Given the description of an element on the screen output the (x, y) to click on. 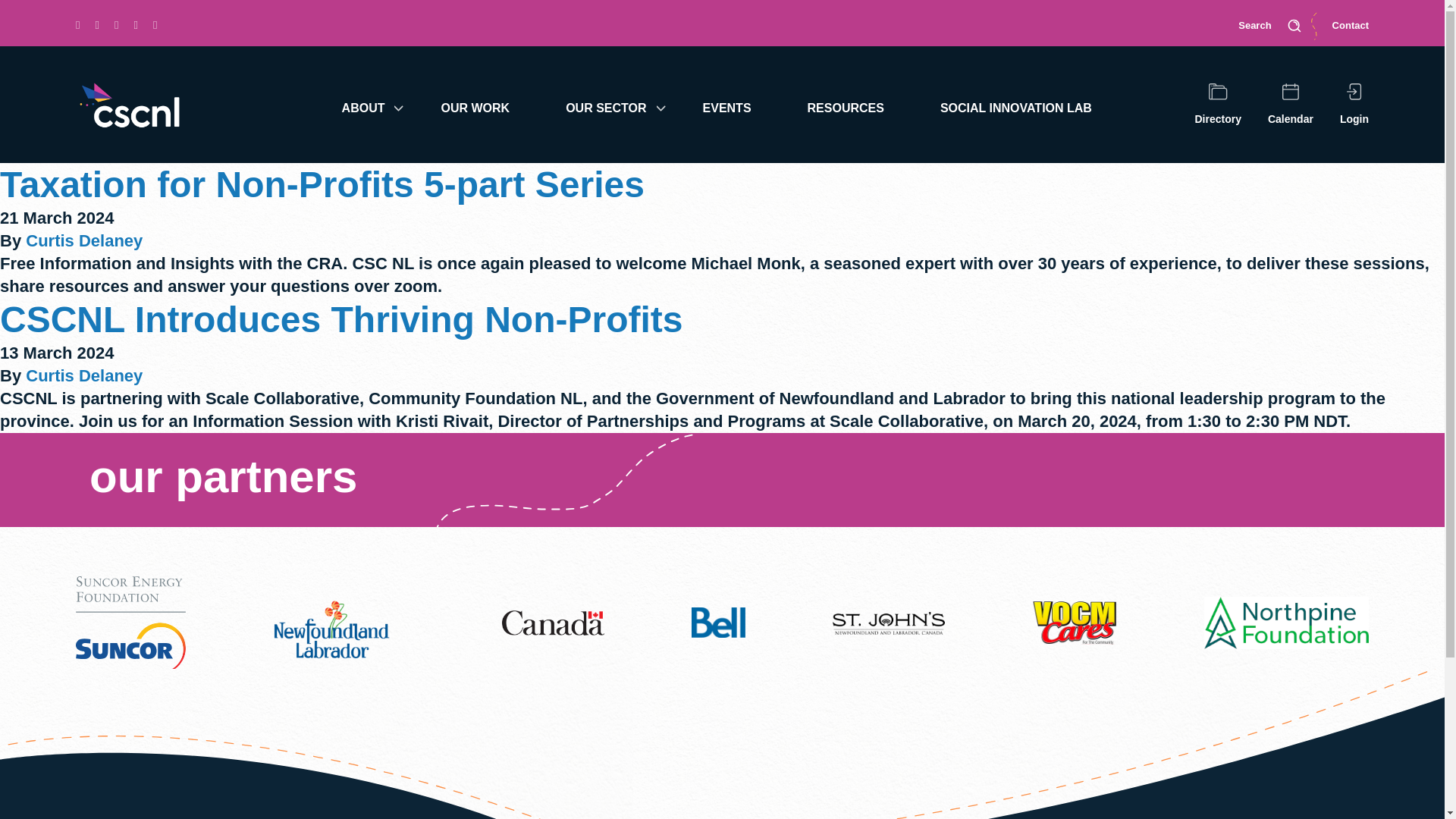
SOCIAL INNOVATION LAB (1025, 103)
Contact (1350, 25)
Search (1270, 25)
Directory (1218, 104)
Calendar (1290, 104)
